Given the description of an element on the screen output the (x, y) to click on. 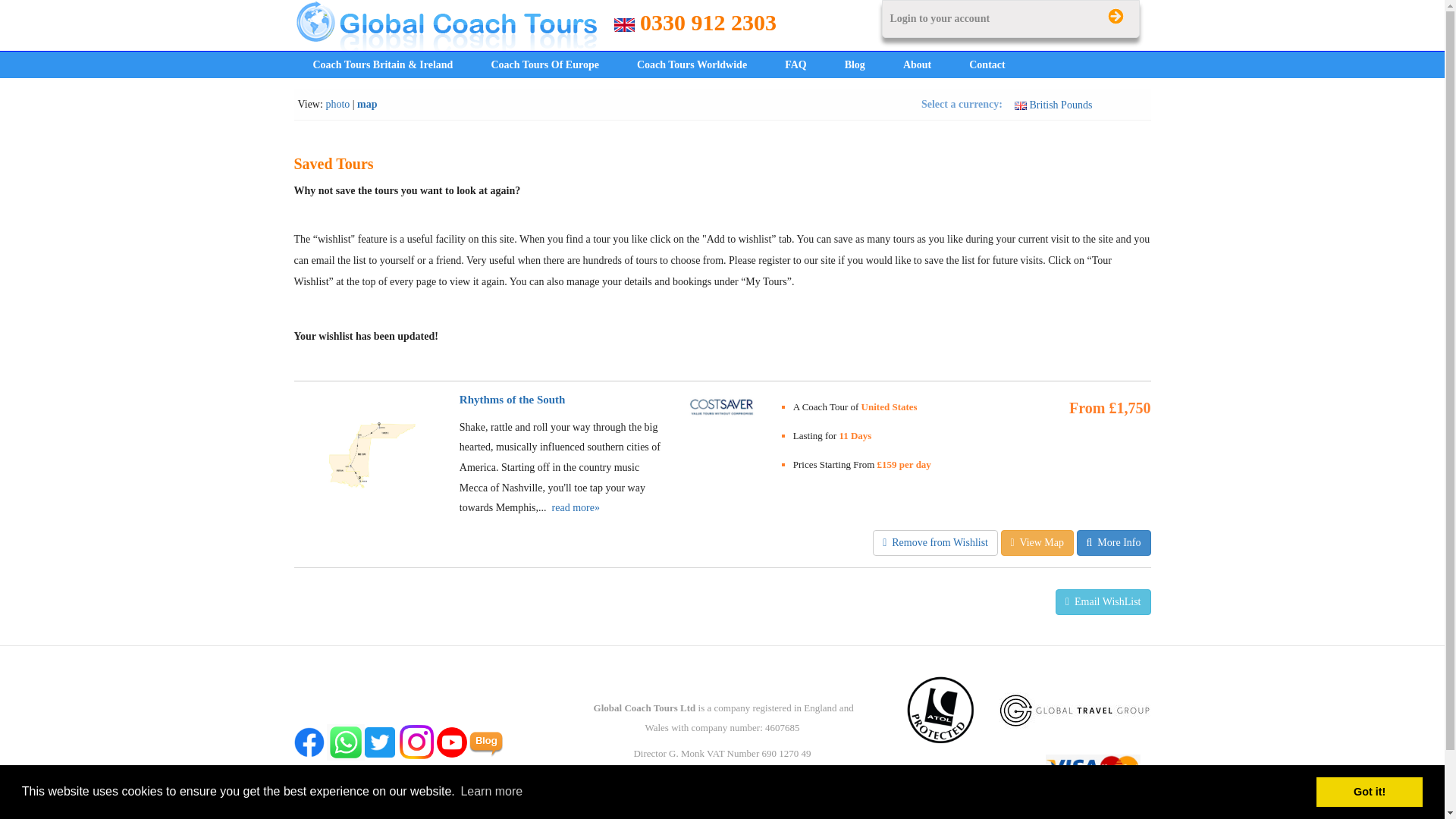
Coach Tours Of Europe (544, 64)
Global Coach Tours (446, 24)
Got it! (1369, 791)
0330 912 2303 (708, 22)
Learn more (491, 791)
Coach Tours of Europe (544, 64)
